Given the description of an element on the screen output the (x, y) to click on. 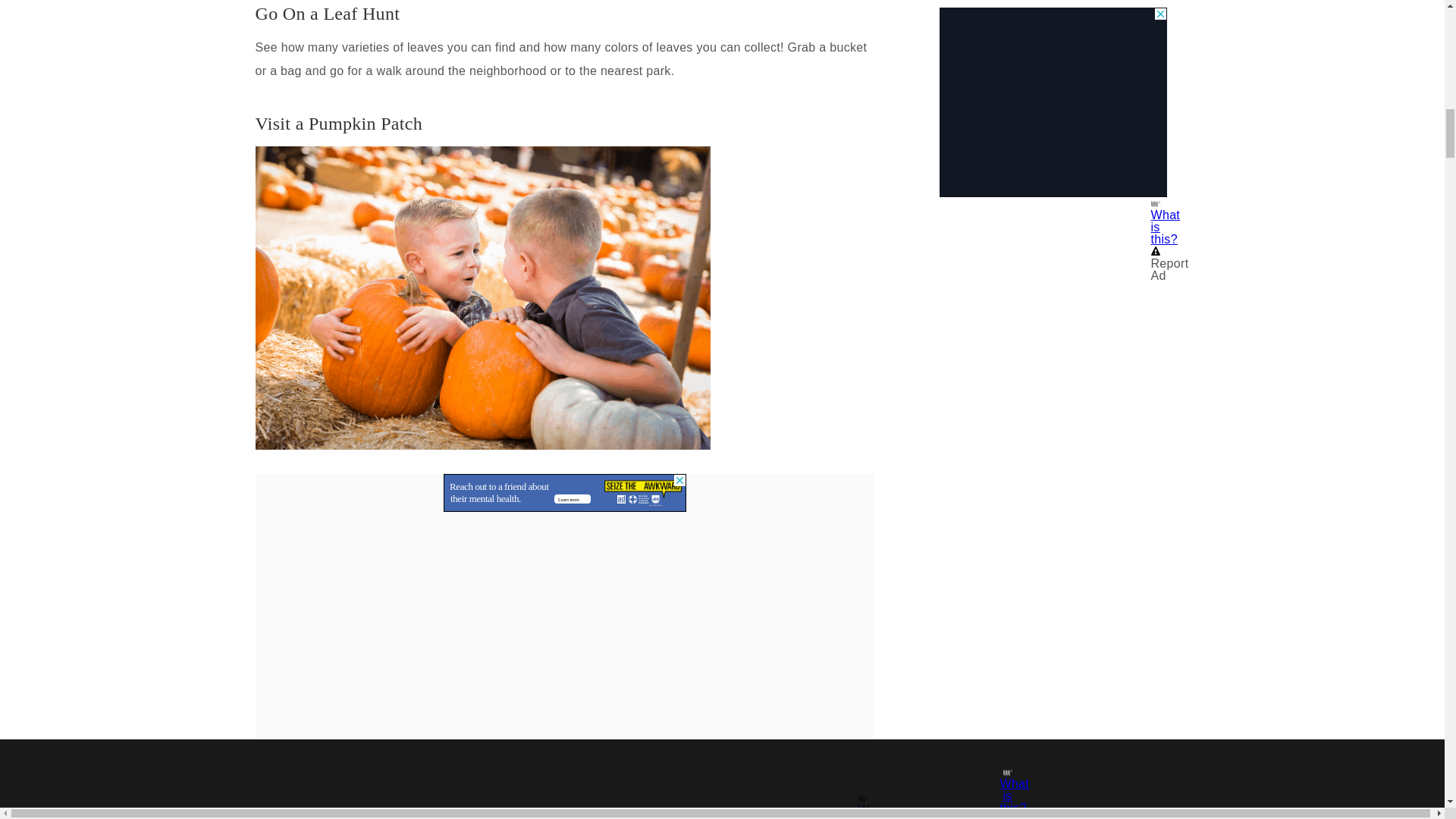
3rd party ad content (563, 492)
